Given the description of an element on the screen output the (x, y) to click on. 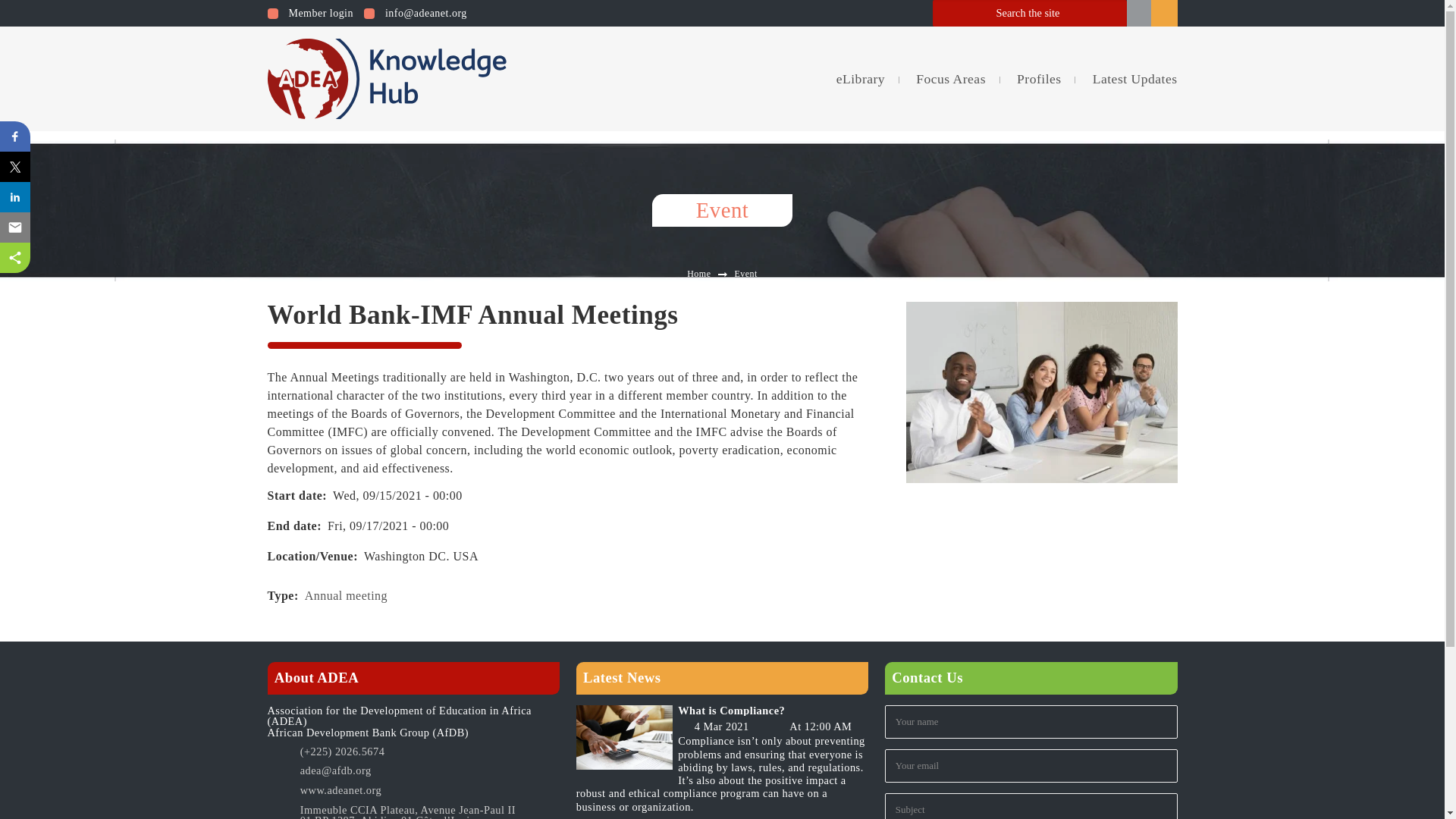
Latest Updates (1127, 78)
Profiles (1039, 78)
Search (1138, 13)
Event (745, 273)
Annual meeting (345, 594)
eLibrary (860, 78)
Member login (309, 12)
Focus Areas (951, 78)
www.adeanet.org (429, 791)
What is Compliance? (772, 710)
Enter the terms you wish to search for. (1029, 13)
Home (698, 273)
